Given the description of an element on the screen output the (x, y) to click on. 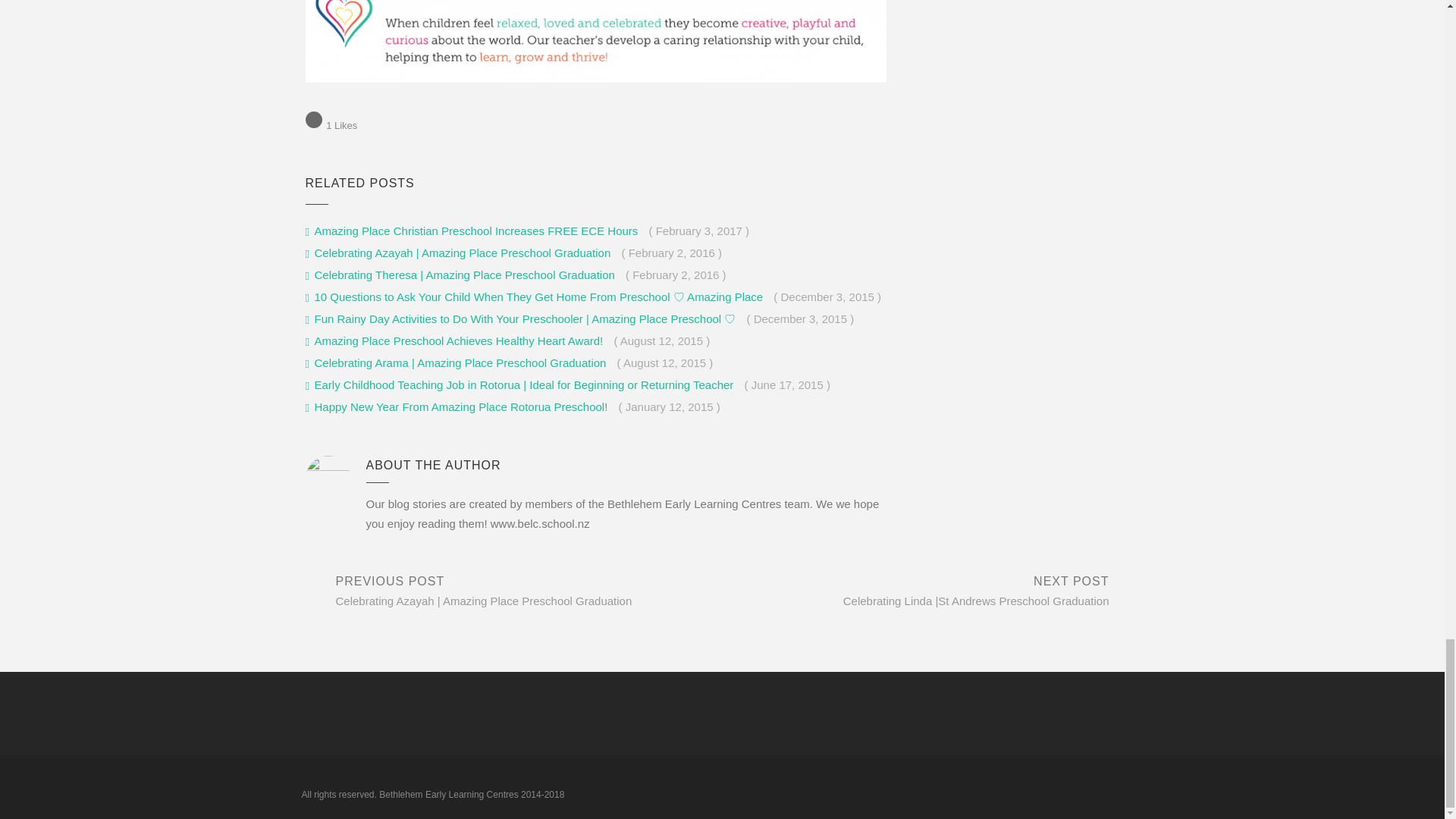
Amazing Place Christian Preschool Increases FREE ECE Hours (472, 230)
Love this (330, 125)
1 Likes (330, 125)
